Given the description of an element on the screen output the (x, y) to click on. 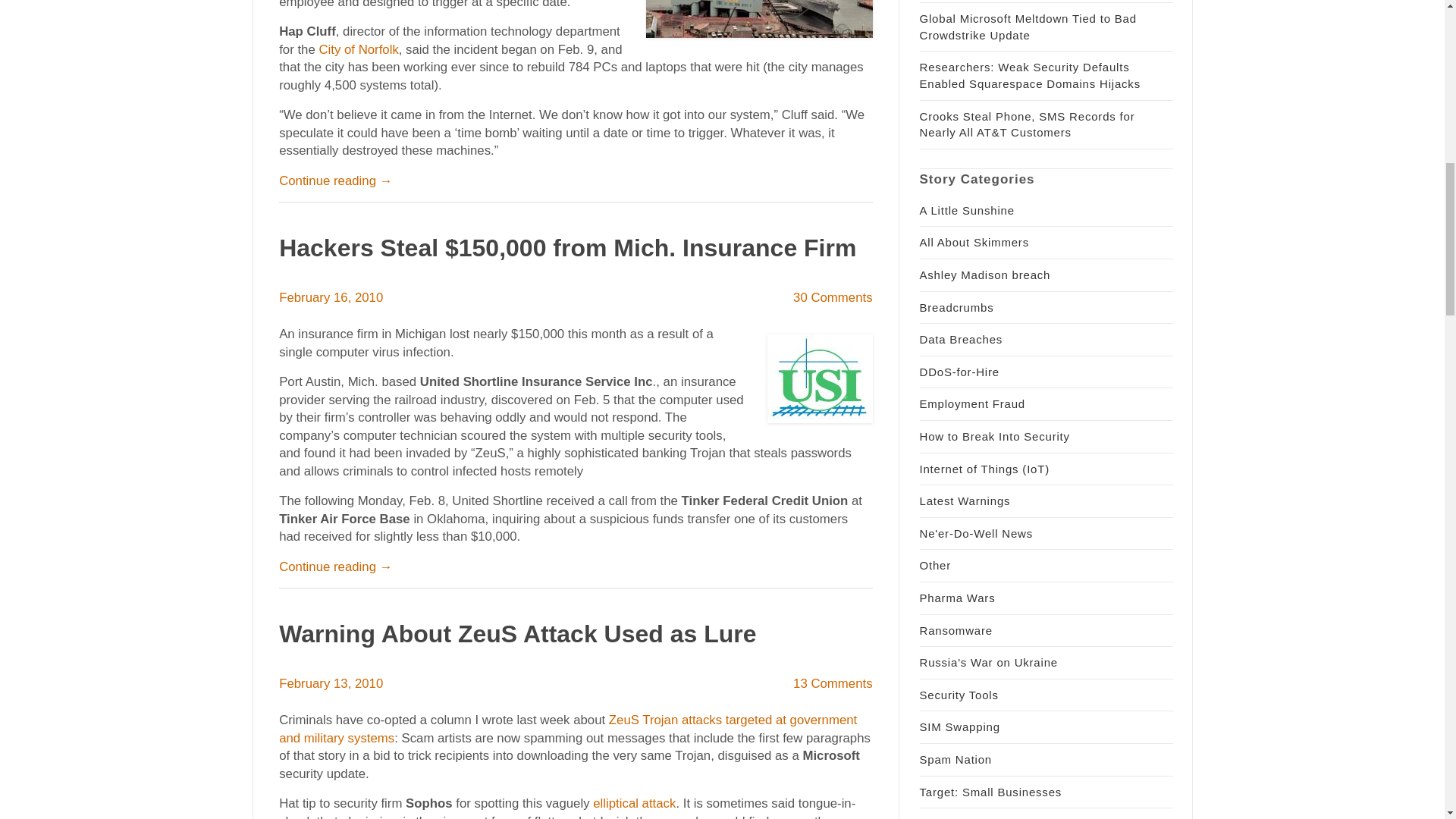
30 Comments (832, 297)
Permalink to Warning About ZeuS Attack Used as Lure (517, 633)
Warning About ZeuS Attack Used as Lure (517, 633)
elliptical attack (633, 803)
City of Norfolk (357, 49)
usi (819, 378)
13 Comments (832, 683)
norfolk (759, 18)
